Given the description of an element on the screen output the (x, y) to click on. 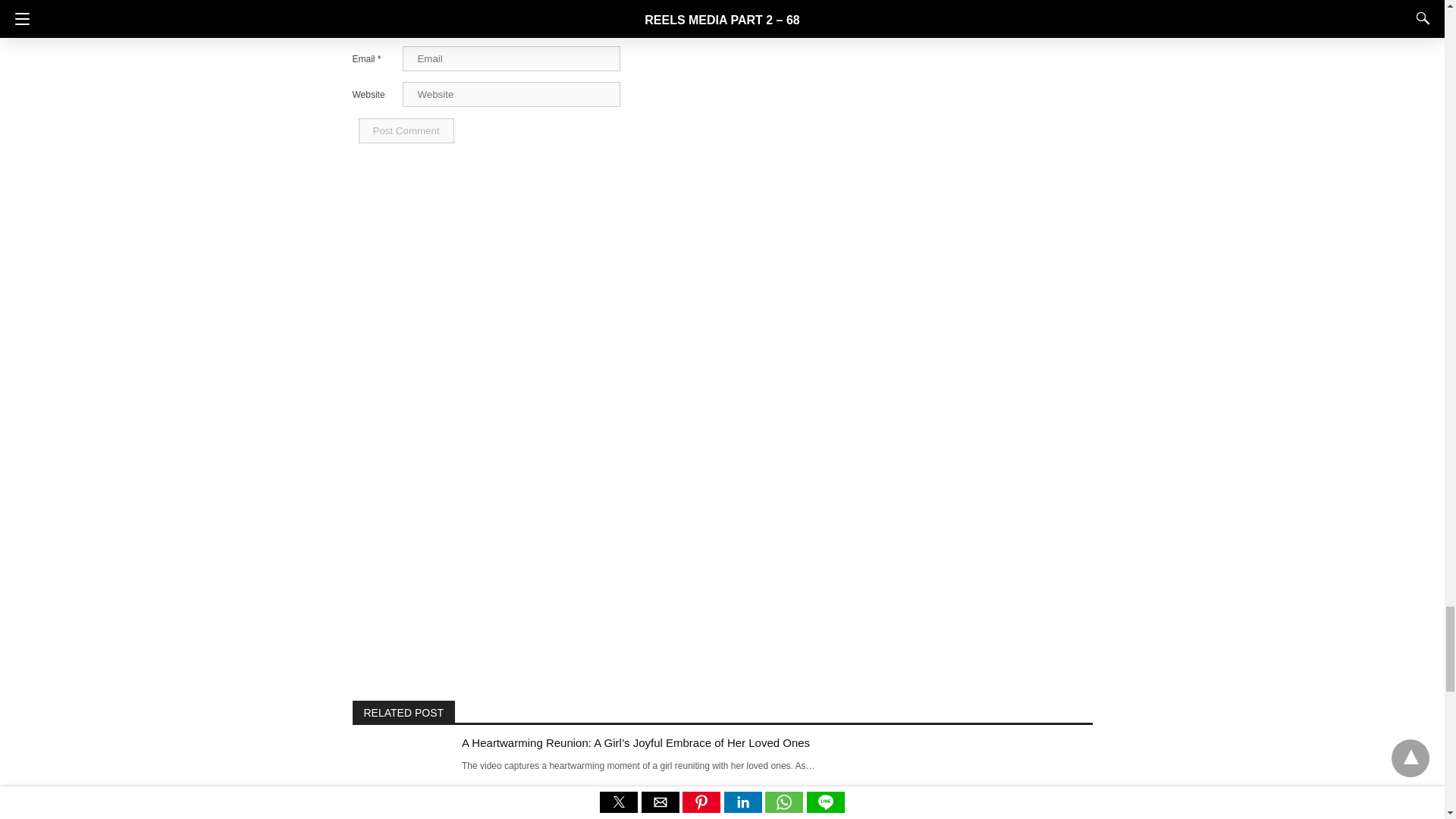
Post Comment (405, 130)
Post Comment (405, 130)
